Given the description of an element on the screen output the (x, y) to click on. 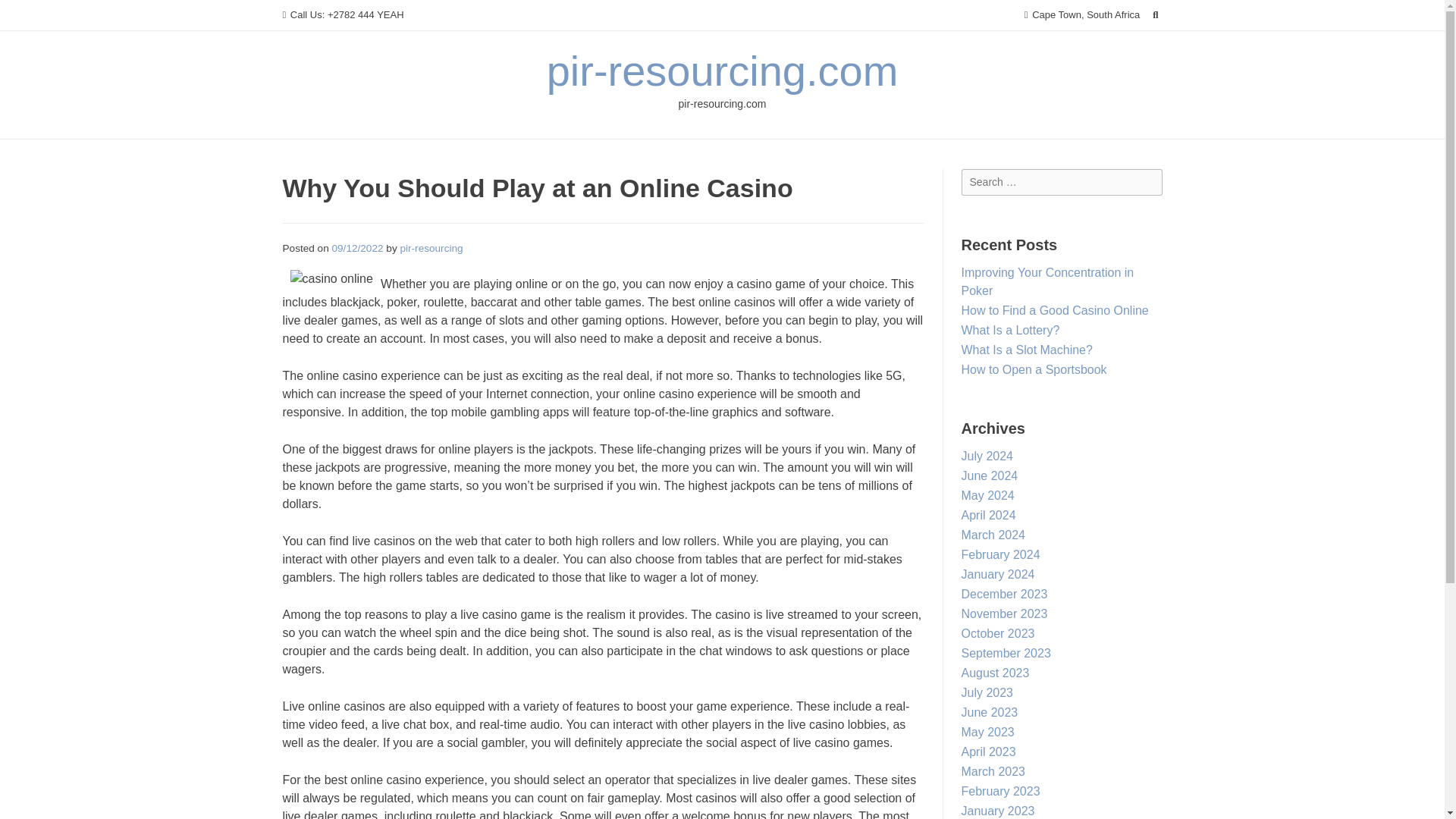
August 2023 (994, 672)
January 2024 (997, 574)
How to Find a Good Casino Online (1054, 309)
February 2023 (1000, 790)
What Is a Slot Machine? (1026, 349)
April 2023 (988, 751)
Search (27, 13)
June 2023 (988, 712)
September 2023 (1005, 653)
July 2024 (986, 455)
Improving Your Concentration in Poker (1047, 281)
March 2024 (993, 534)
July 2023 (986, 692)
June 2024 (988, 475)
pir-resourcing (430, 247)
